Given the description of an element on the screen output the (x, y) to click on. 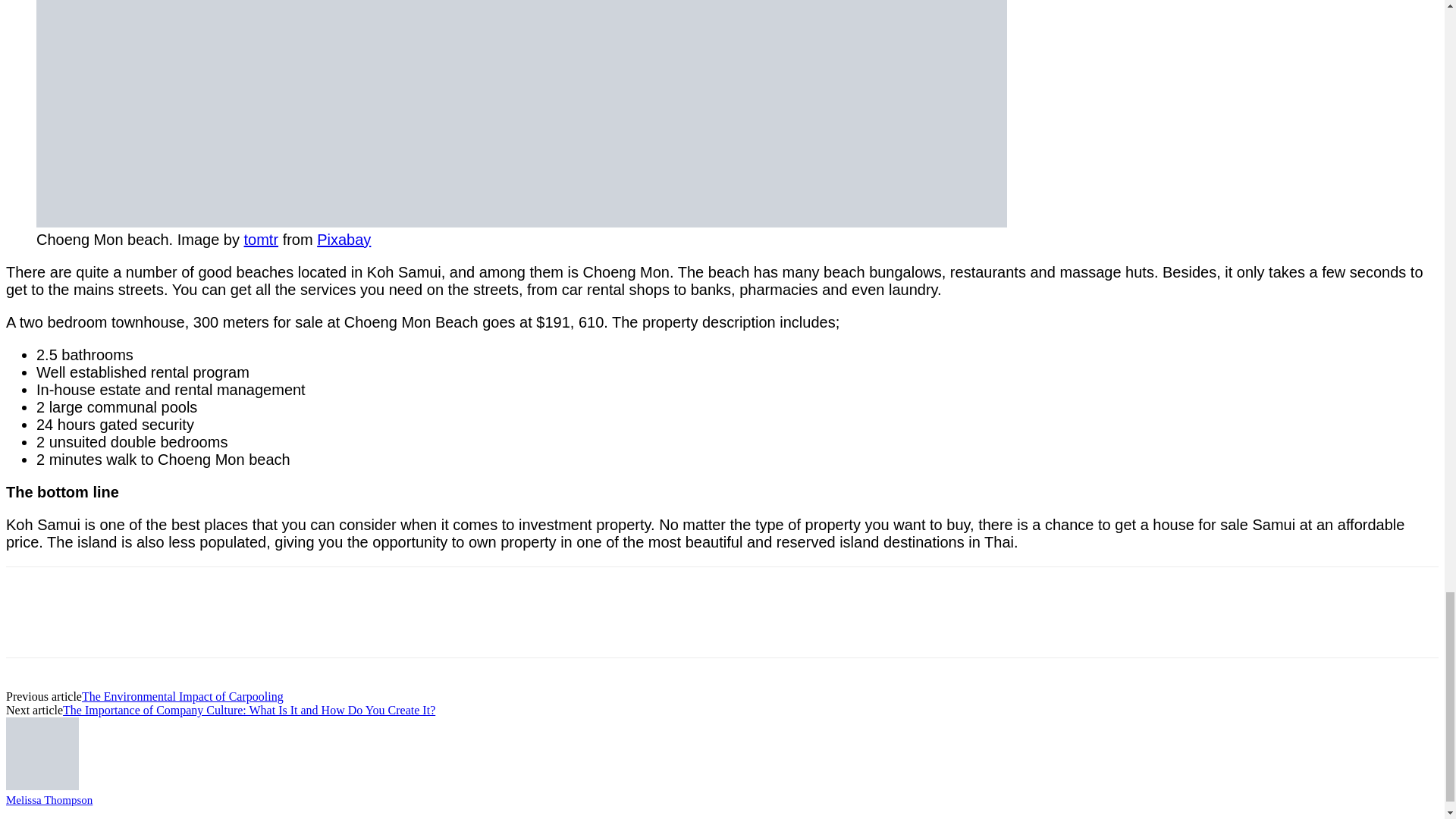
bottomFacebookLike (118, 590)
